Given the description of an element on the screen output the (x, y) to click on. 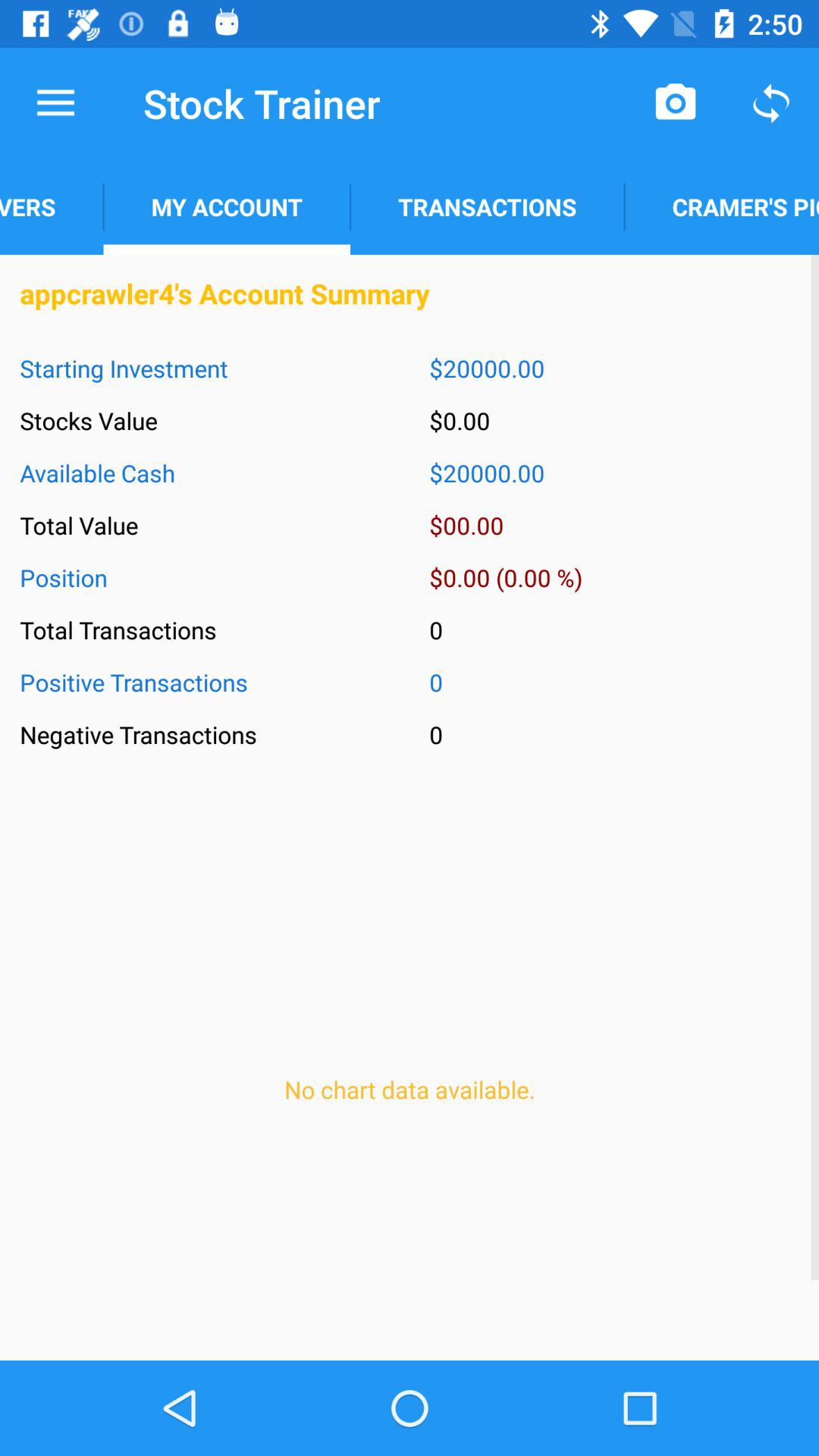
select the icon next to the transactions (226, 206)
